Given the description of an element on the screen output the (x, y) to click on. 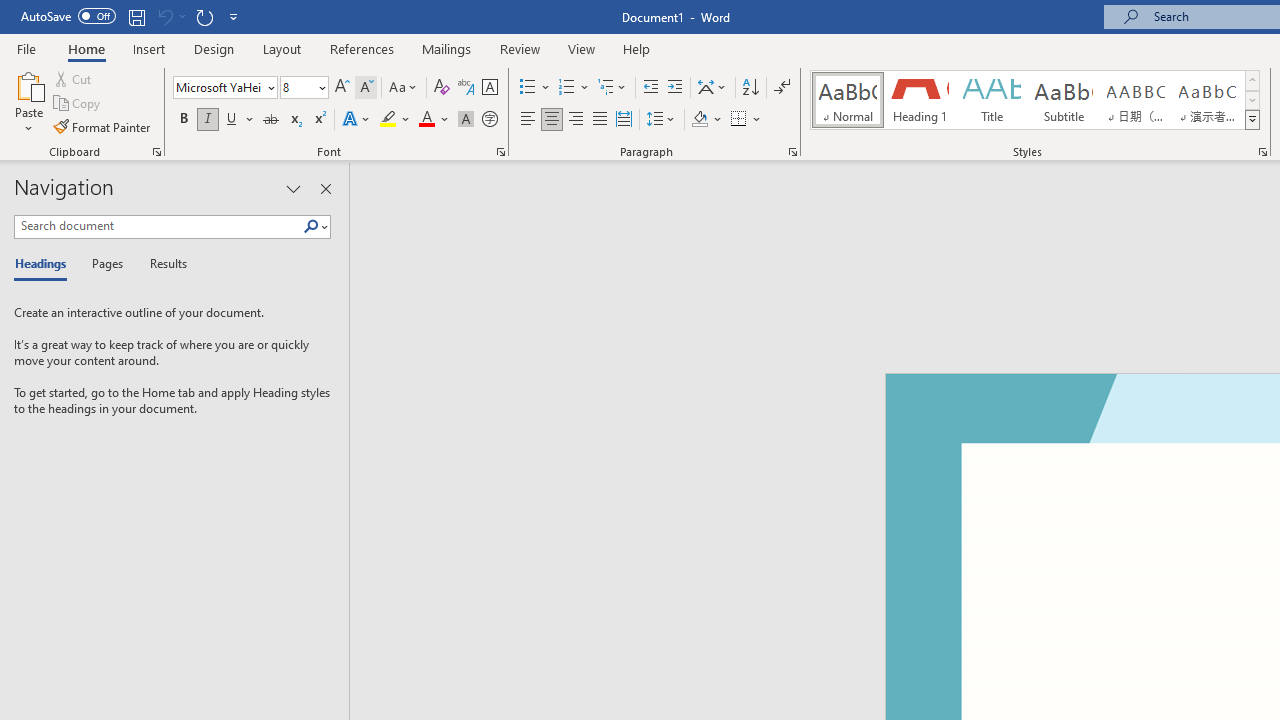
Font Color (434, 119)
Layout (282, 48)
Can't Undo (170, 15)
Save (136, 15)
Align Left (527, 119)
Underline (239, 119)
Office Clipboard... (156, 151)
Class: NetUIImage (1252, 119)
Font (224, 87)
Numbering (573, 87)
Styles... (1262, 151)
Grow Font (342, 87)
Text Highlight Color (395, 119)
Character Border (489, 87)
